Given the description of an element on the screen output the (x, y) to click on. 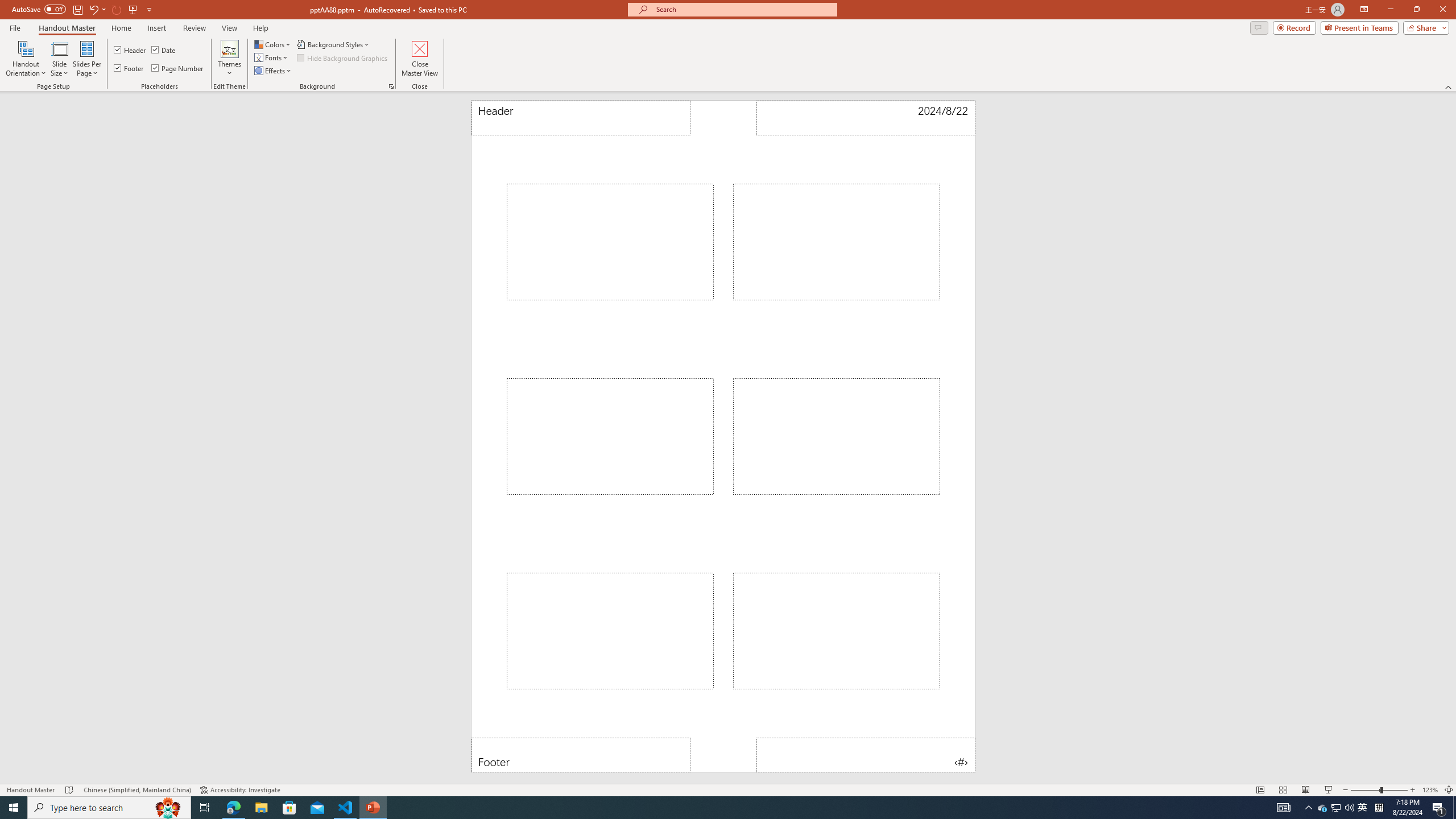
Slides Per Page (87, 58)
Header (130, 49)
Hide Background Graphics (343, 56)
